Given the description of an element on the screen output the (x, y) to click on. 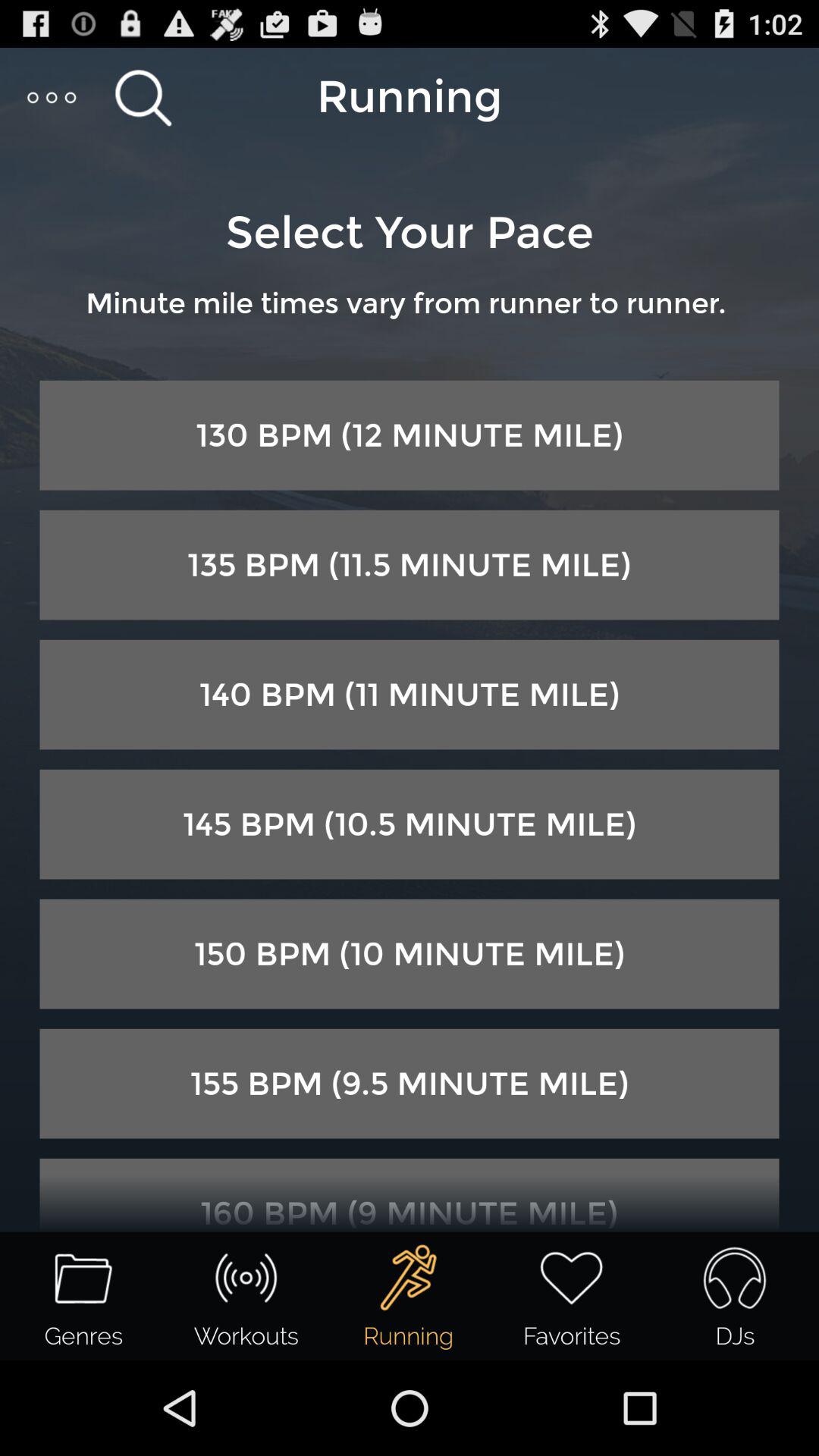
choose the icon above select your pace icon (142, 97)
